Given the description of an element on the screen output the (x, y) to click on. 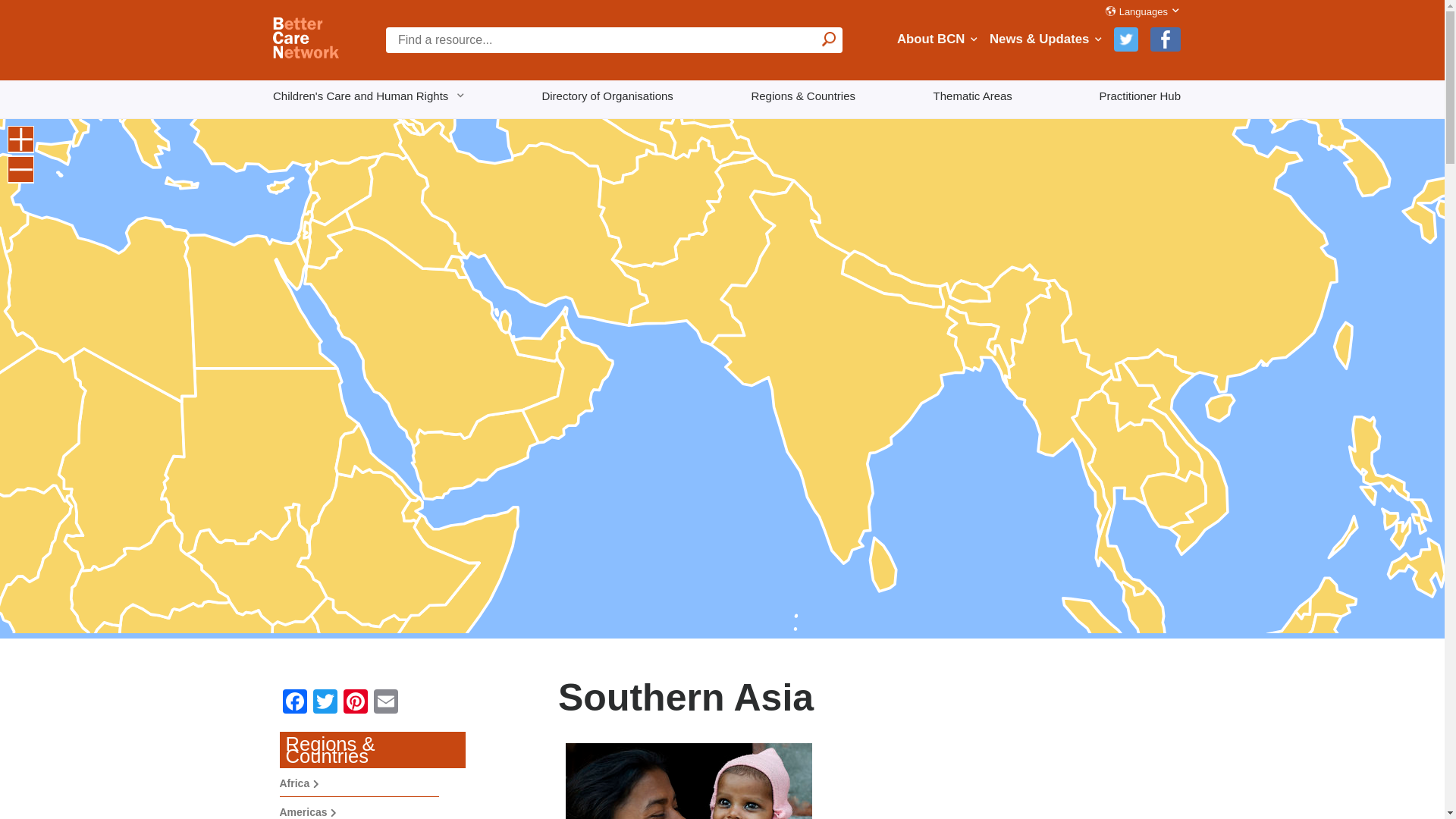
Apply (829, 40)
